Given the description of an element on the screen output the (x, y) to click on. 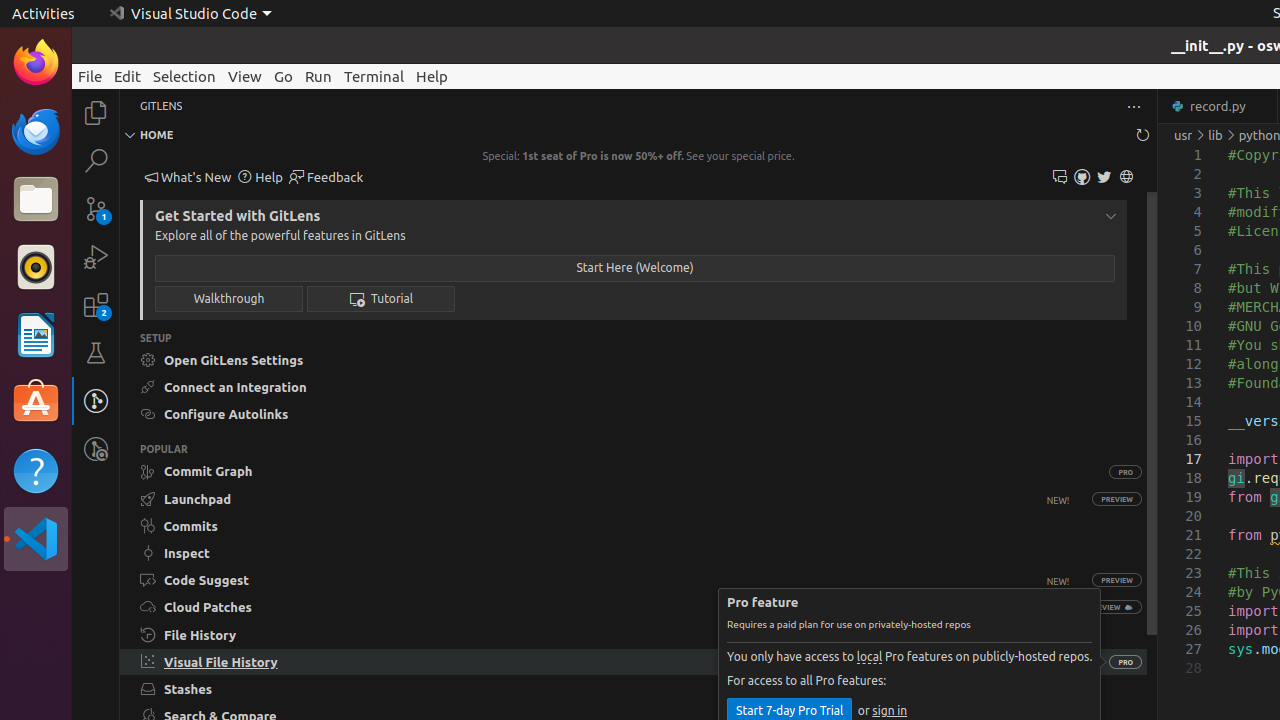
Search (Ctrl+Shift+F) Element type: page-tab (96, 160)
Explorer (Ctrl+Shift+E) Element type: page-tab (96, 113)
Firefox Web Browser Element type: push-button (36, 63)
